Given the description of an element on the screen output the (x, y) to click on. 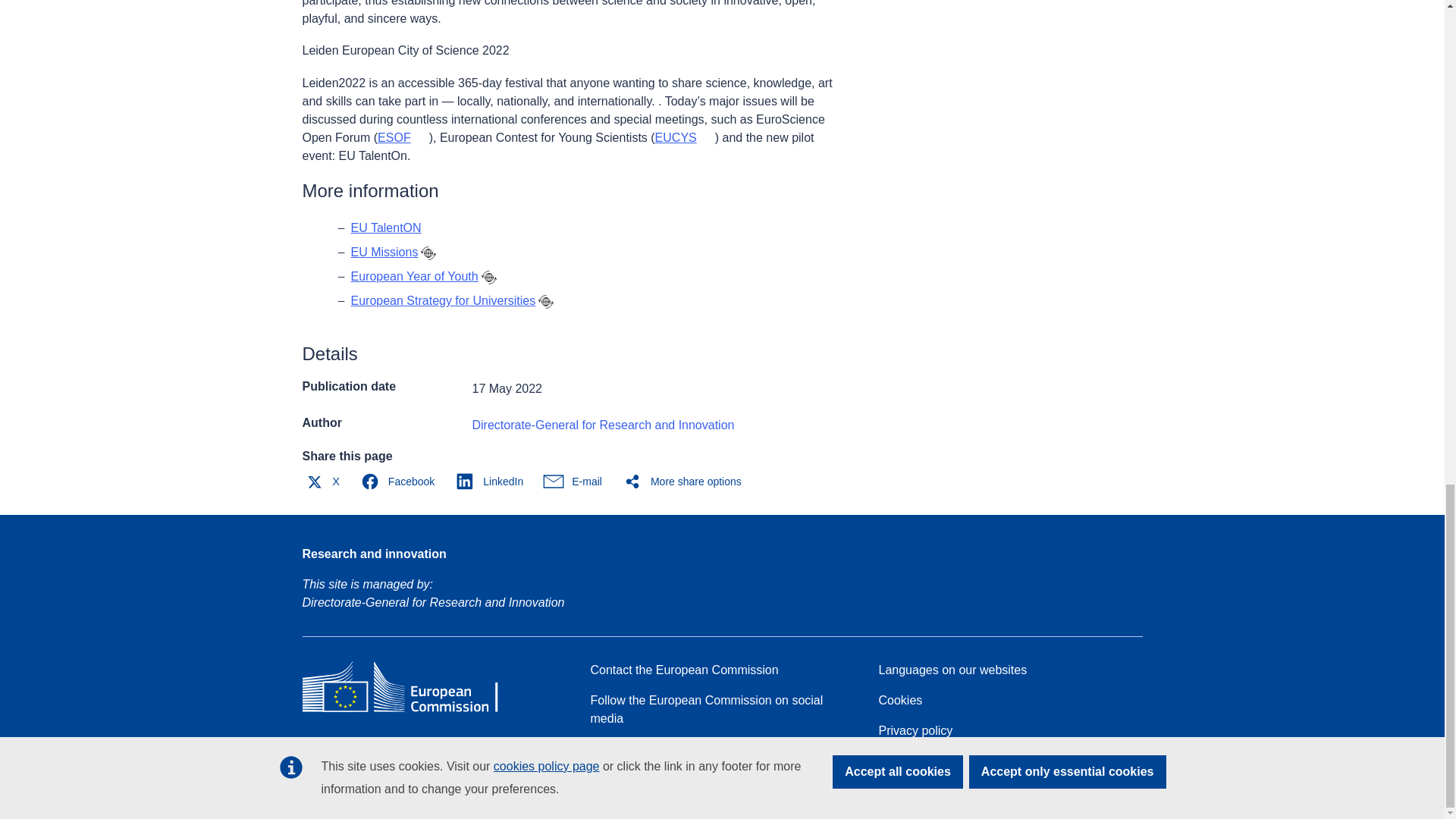
European Commission (411, 711)
EU Missions (383, 251)
Facebook (401, 481)
More share options (685, 481)
ESOF (403, 137)
Search for available translations (545, 301)
Search for available translations (488, 277)
European Strategy for Universities (442, 300)
X (324, 481)
European Year of Youth (413, 276)
